Given the description of an element on the screen output the (x, y) to click on. 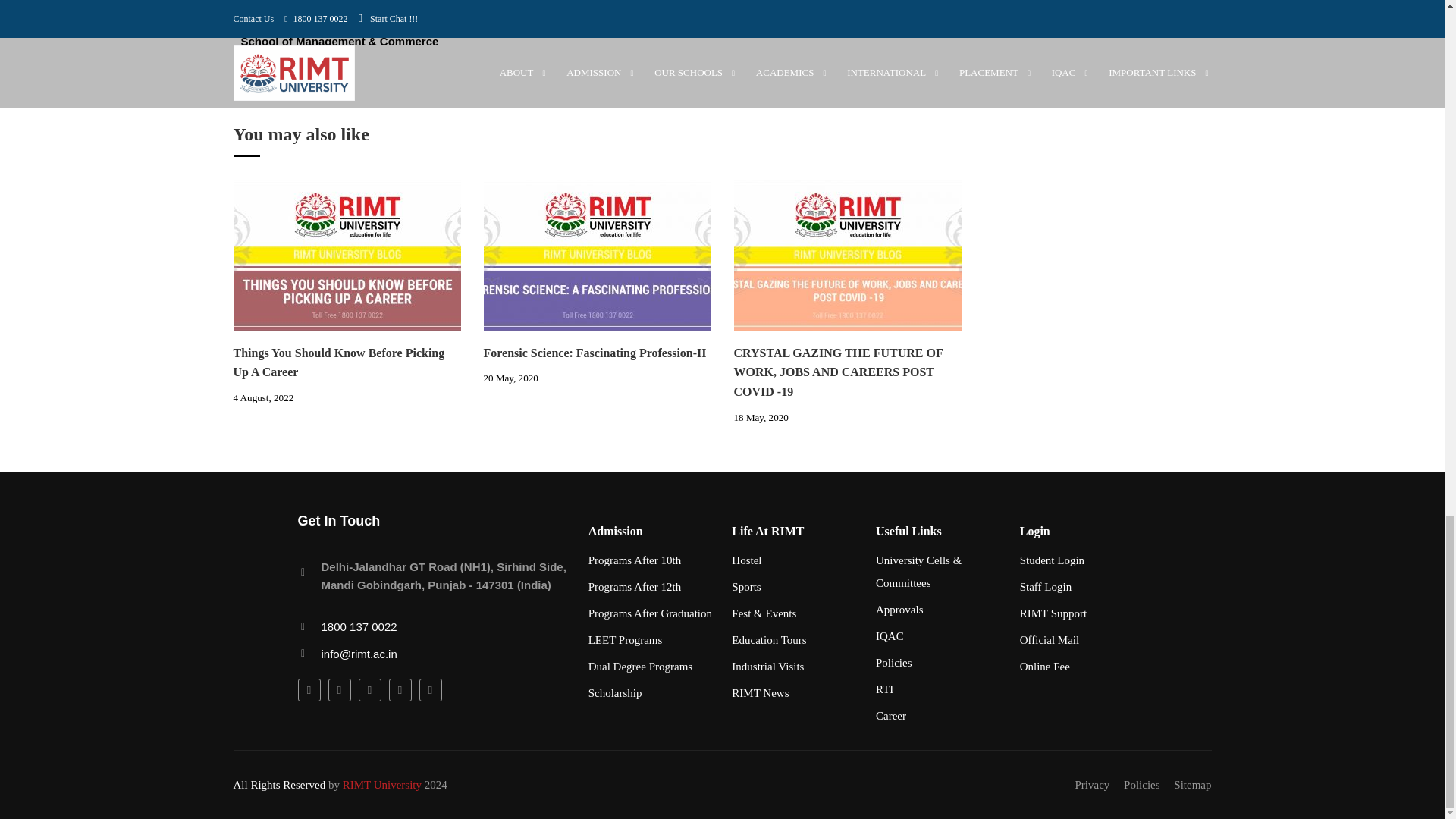
Things You Should Know Before Picking Up A Career (346, 254)
Forensic Science: Fascinating Profession-II (597, 254)
Management Blog Article (846, 255)
Forensic Blog (597, 255)
